Given the description of an element on the screen output the (x, y) to click on. 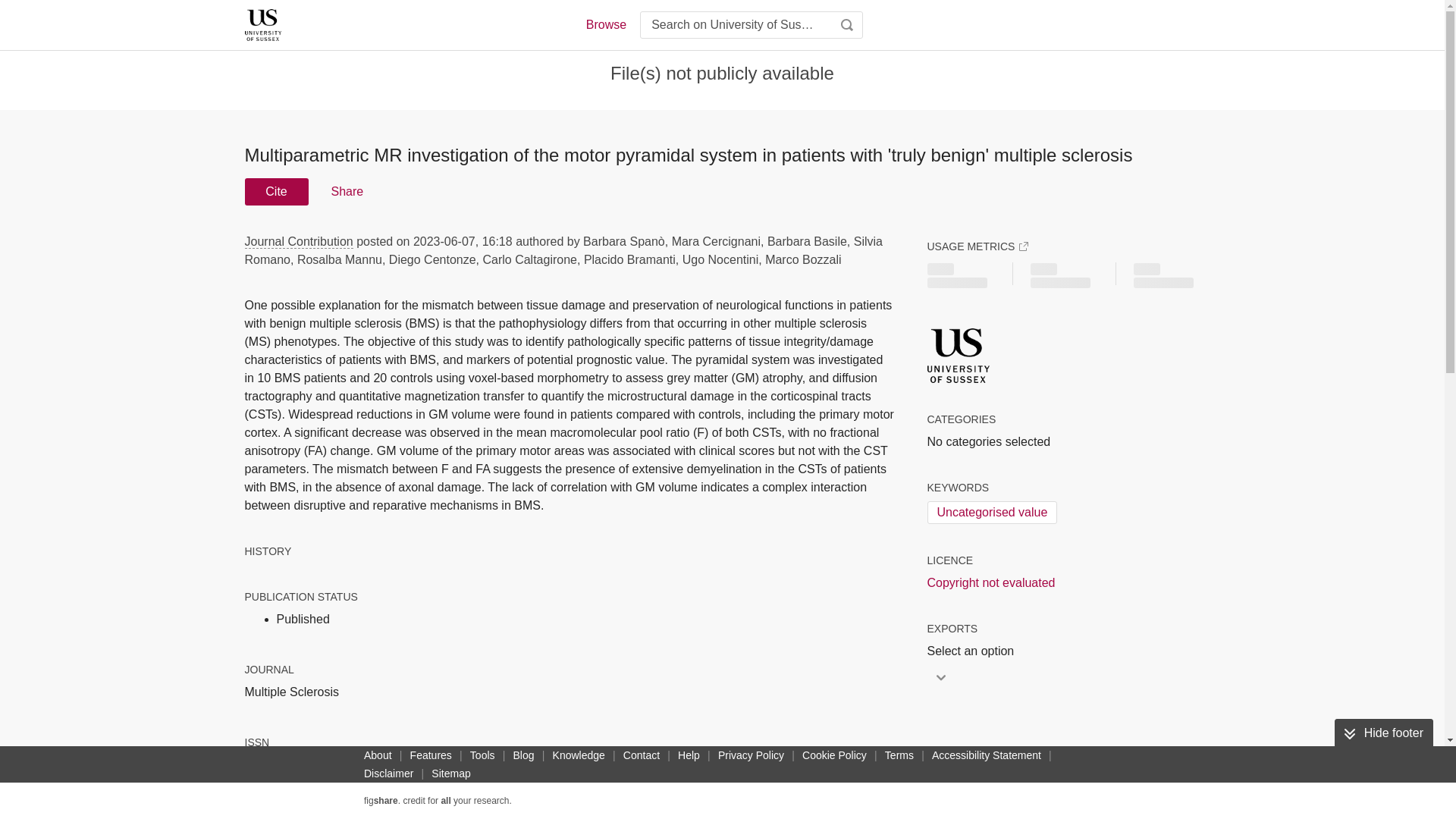
Hide footer (1383, 733)
Disclaimer (388, 773)
Help (688, 755)
Browse (605, 24)
Uncategorised value (991, 512)
Sitemap (450, 773)
Share (346, 191)
Cookie Policy (833, 755)
Tools (482, 755)
Knowledge (579, 755)
Copyright not evaluated (990, 583)
Select an option (974, 651)
About (377, 755)
Cite (275, 191)
Blog (523, 755)
